Given the description of an element on the screen output the (x, y) to click on. 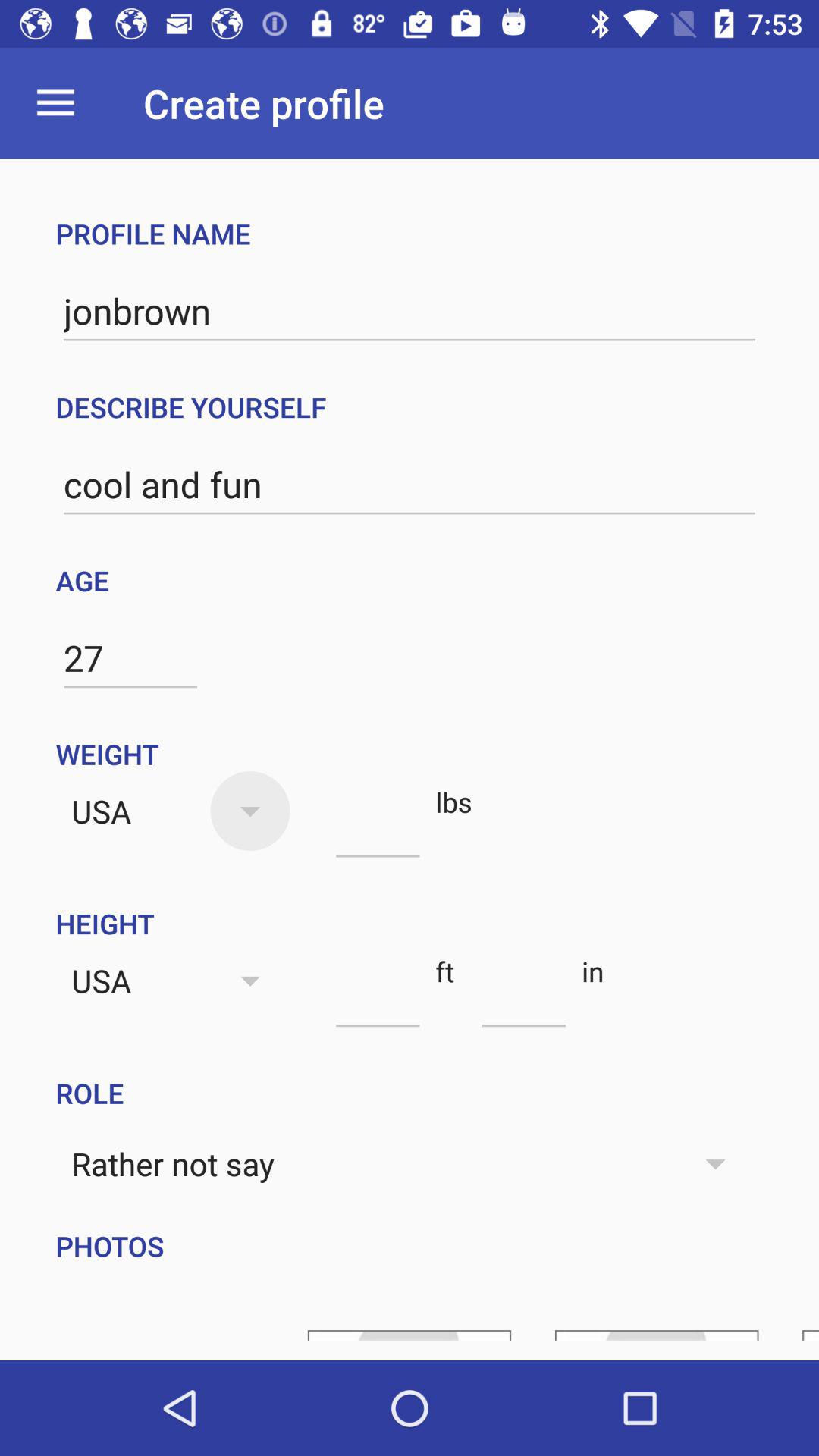
jump until the cool and fun item (409, 485)
